Given the description of an element on the screen output the (x, y) to click on. 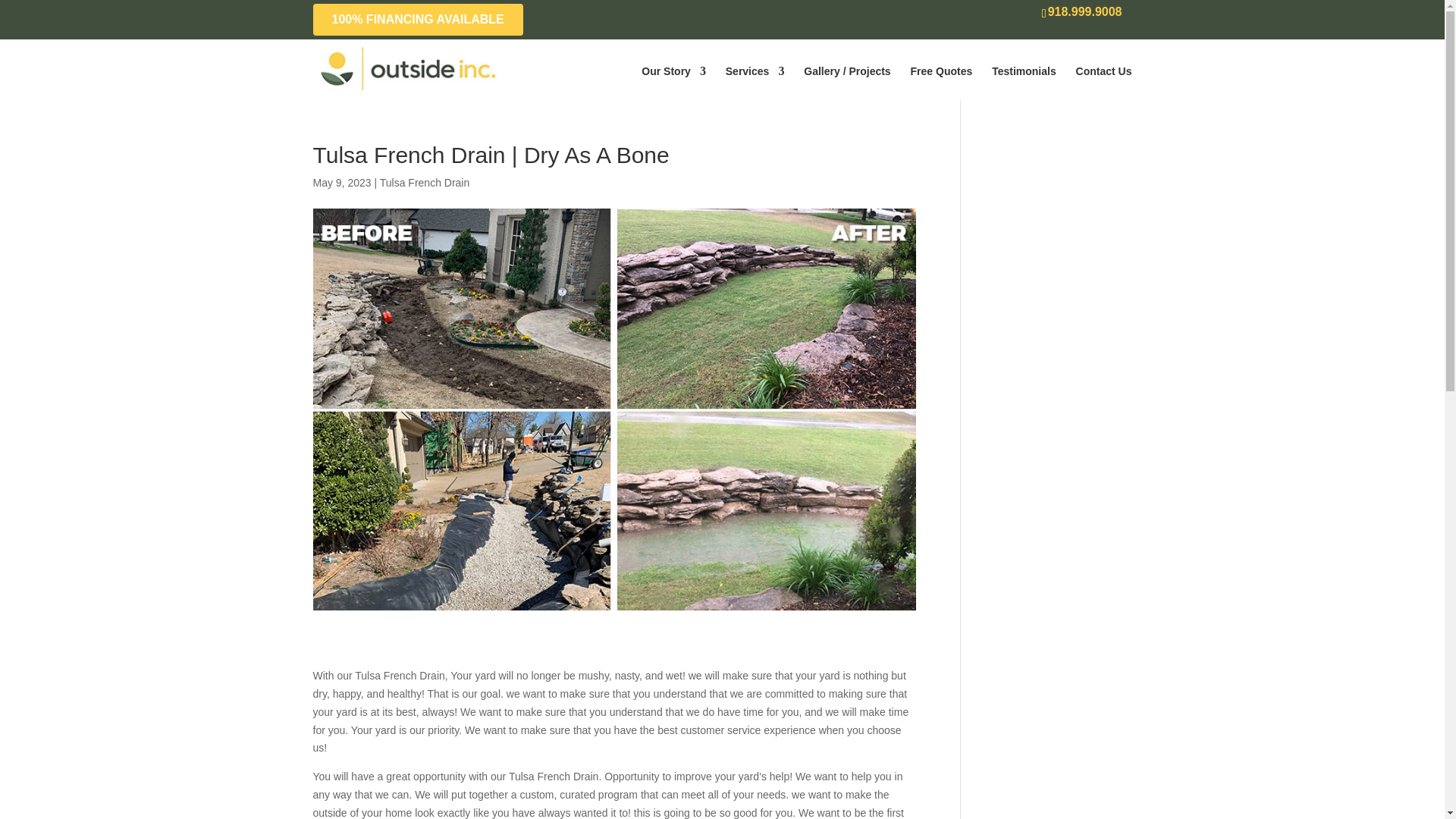
Testimonials (1024, 71)
918.999.9008 (1082, 13)
Tulsa French Drain (425, 182)
Contact Us (1103, 71)
Services (754, 71)
Our Story (674, 71)
Free Quotes (941, 71)
